Given the description of an element on the screen output the (x, y) to click on. 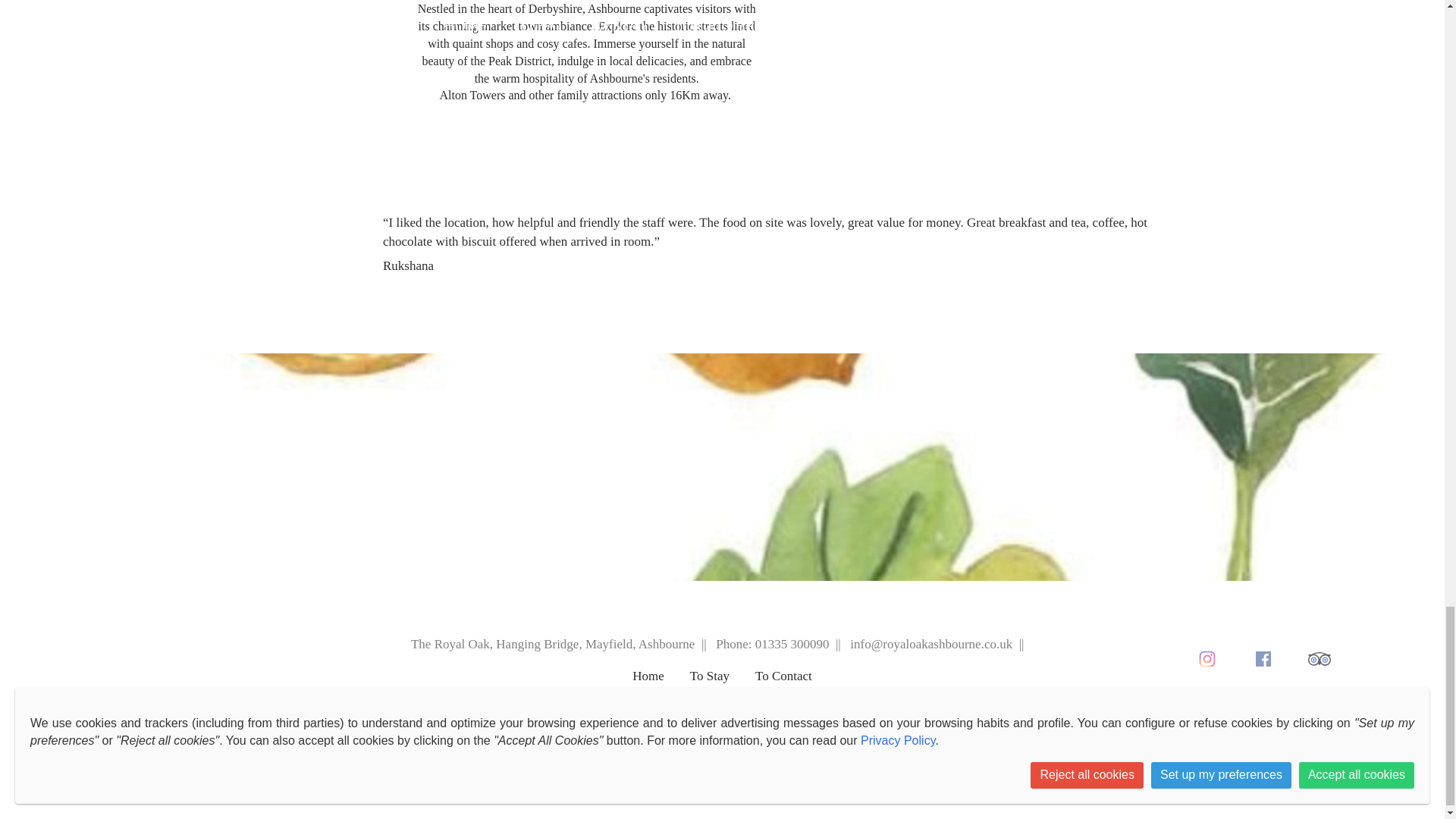
To Stay (709, 682)
Home (648, 682)
Powered using Amenitiz (722, 718)
To Contact (783, 682)
